Given the description of an element on the screen output the (x, y) to click on. 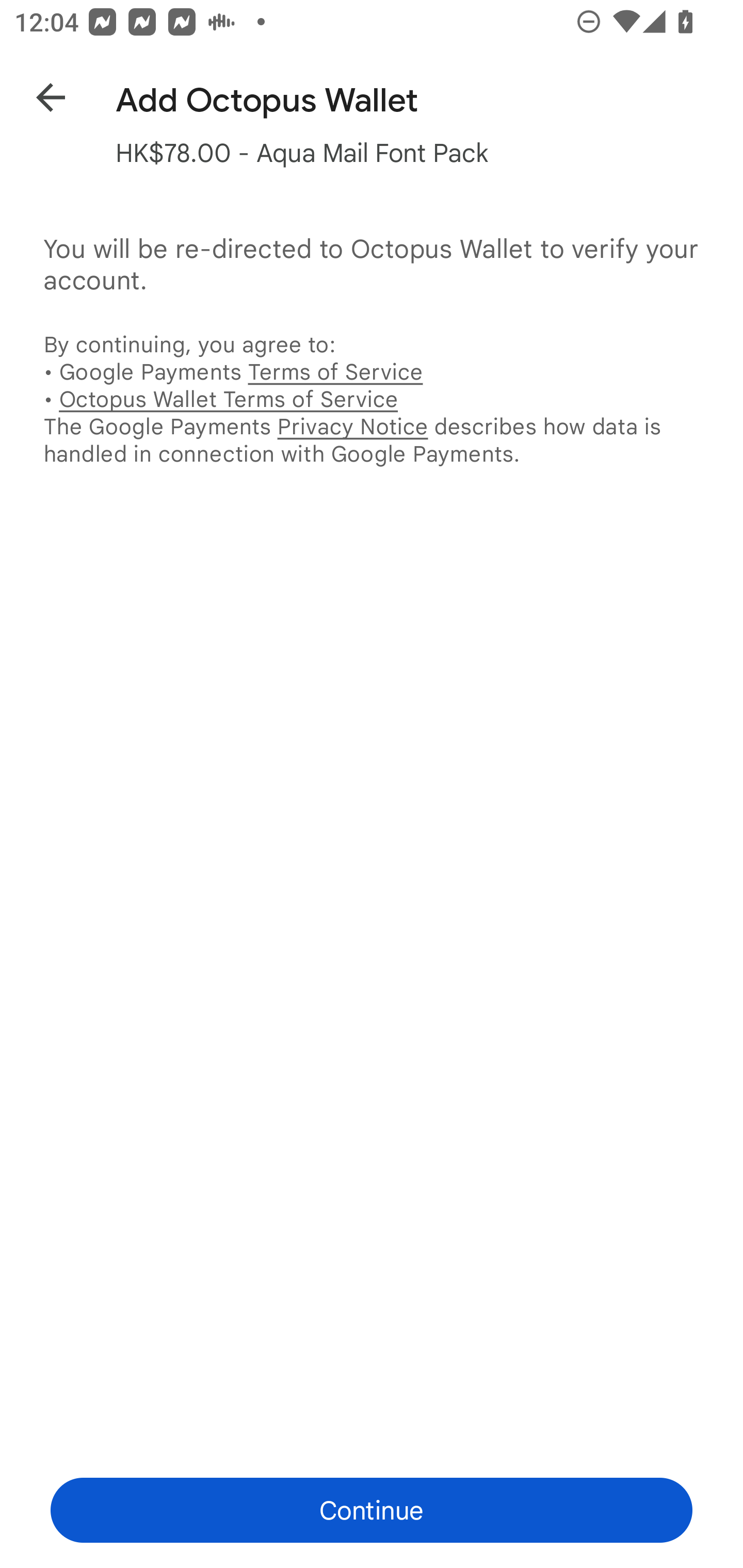
Back (36, 94)
Terms of Service (334, 372)
Octopus Wallet Terms of Service (227, 398)
Privacy Notice (352, 426)
Continue (371, 1510)
